Given the description of an element on the screen output the (x, y) to click on. 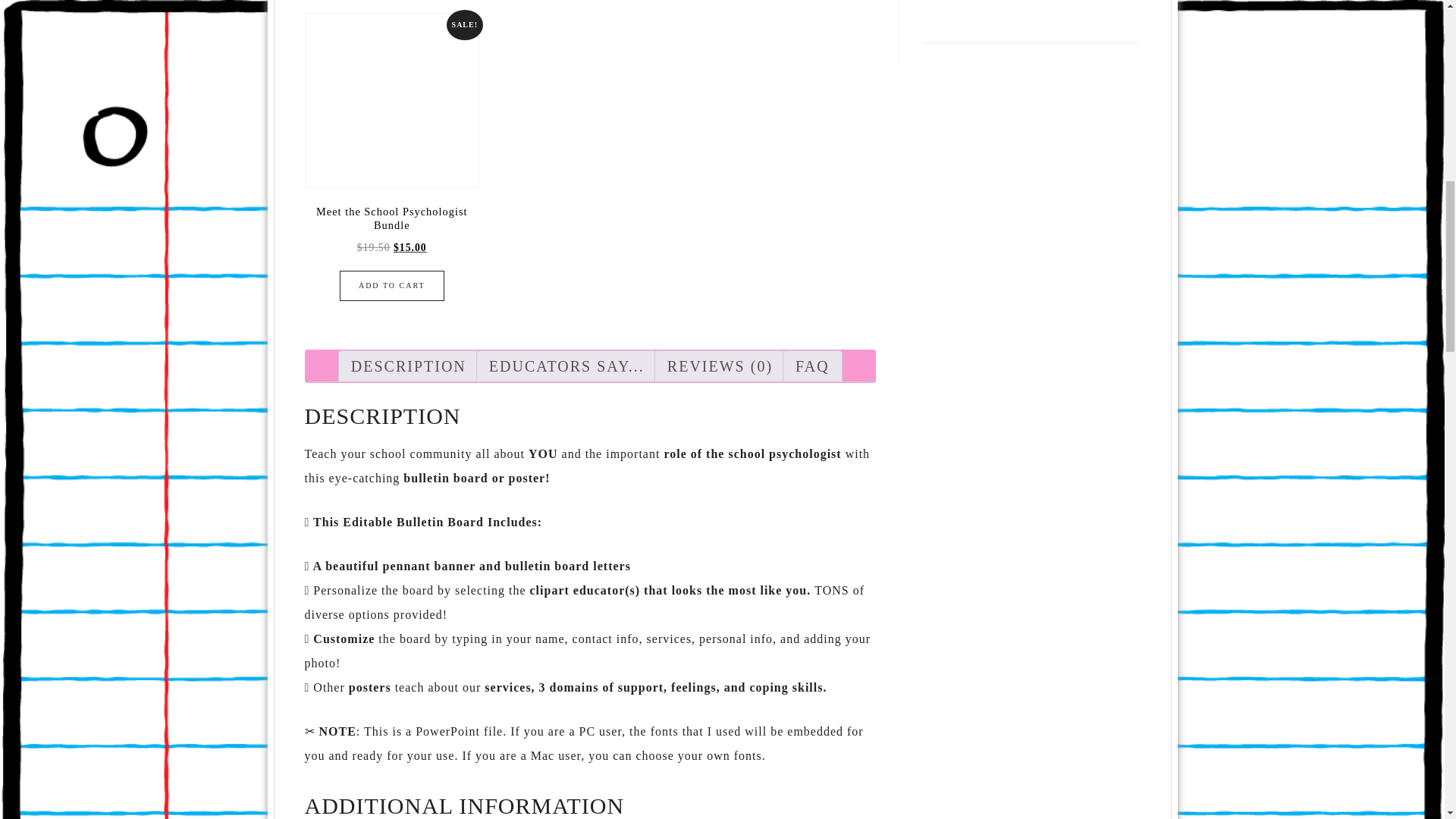
ADD TO CART (391, 286)
DESCRIPTION (407, 366)
FAQ (811, 366)
EDUCATORS SAY... (567, 366)
